Given the description of an element on the screen output the (x, y) to click on. 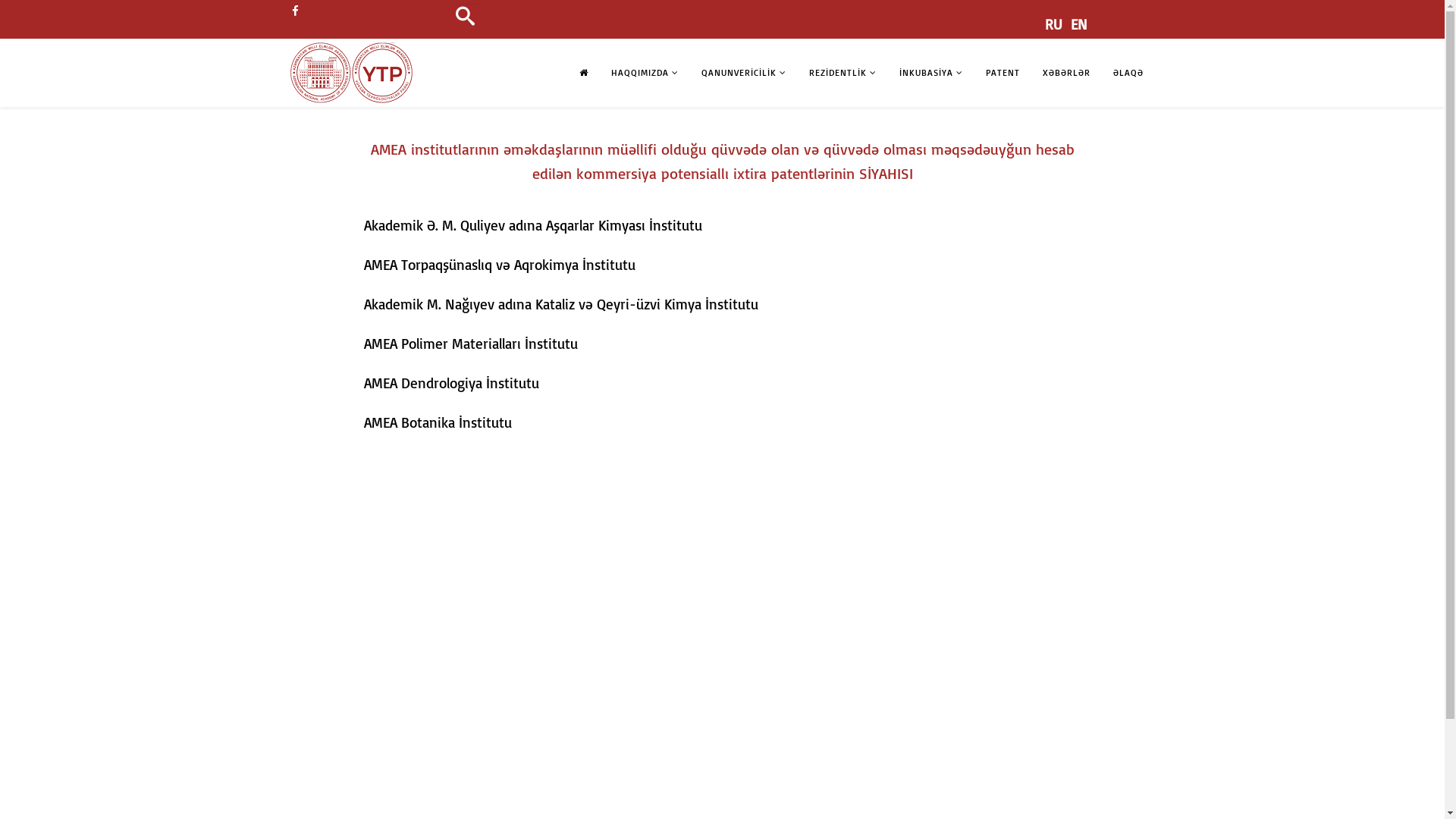
RU Element type: text (1053, 24)
PATENT Element type: text (1001, 72)
EN Element type: text (1078, 24)
HAQQIMIZDA Element type: text (644, 72)
